Given the description of an element on the screen output the (x, y) to click on. 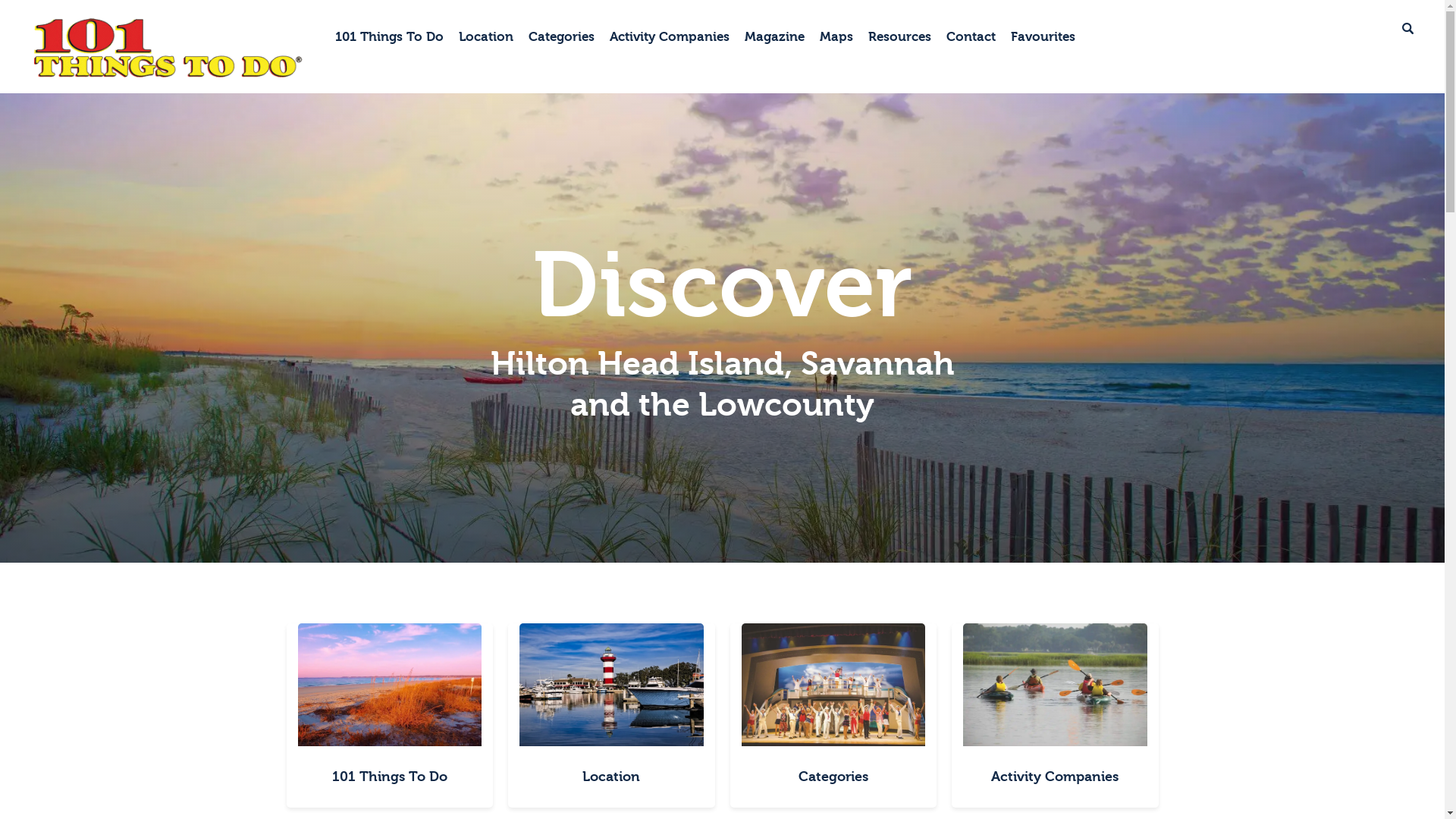
Maps Element type: text (836, 36)
Categories Element type: text (833, 776)
Activity Companies Element type: text (1054, 776)
101 Things To Do Element type: text (388, 776)
101 Things To Do Element type: text (389, 36)
Location Element type: text (485, 36)
Categories Element type: text (561, 36)
Favourites Element type: text (1042, 36)
Activity Companies Element type: text (669, 36)
Location Element type: text (611, 776)
Magazine Element type: text (774, 36)
Resources Element type: text (899, 36)
Contact Element type: text (970, 36)
